Given the description of an element on the screen output the (x, y) to click on. 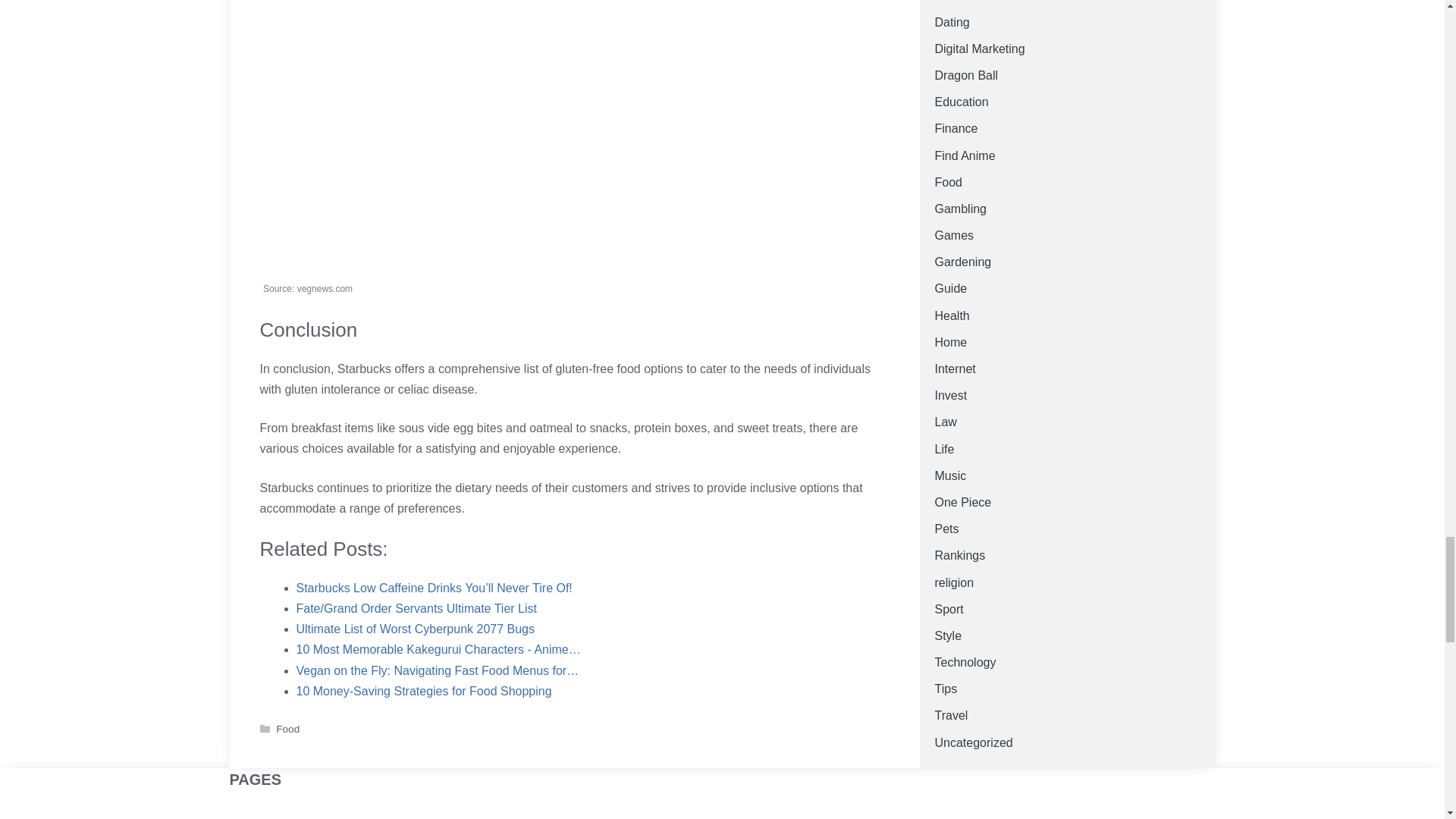
10 Money-Saving Strategies for Food Shopping (423, 690)
Food (287, 728)
Ultimate List of Worst Cyberpunk 2077 Bugs (414, 628)
